Given the description of an element on the screen output the (x, y) to click on. 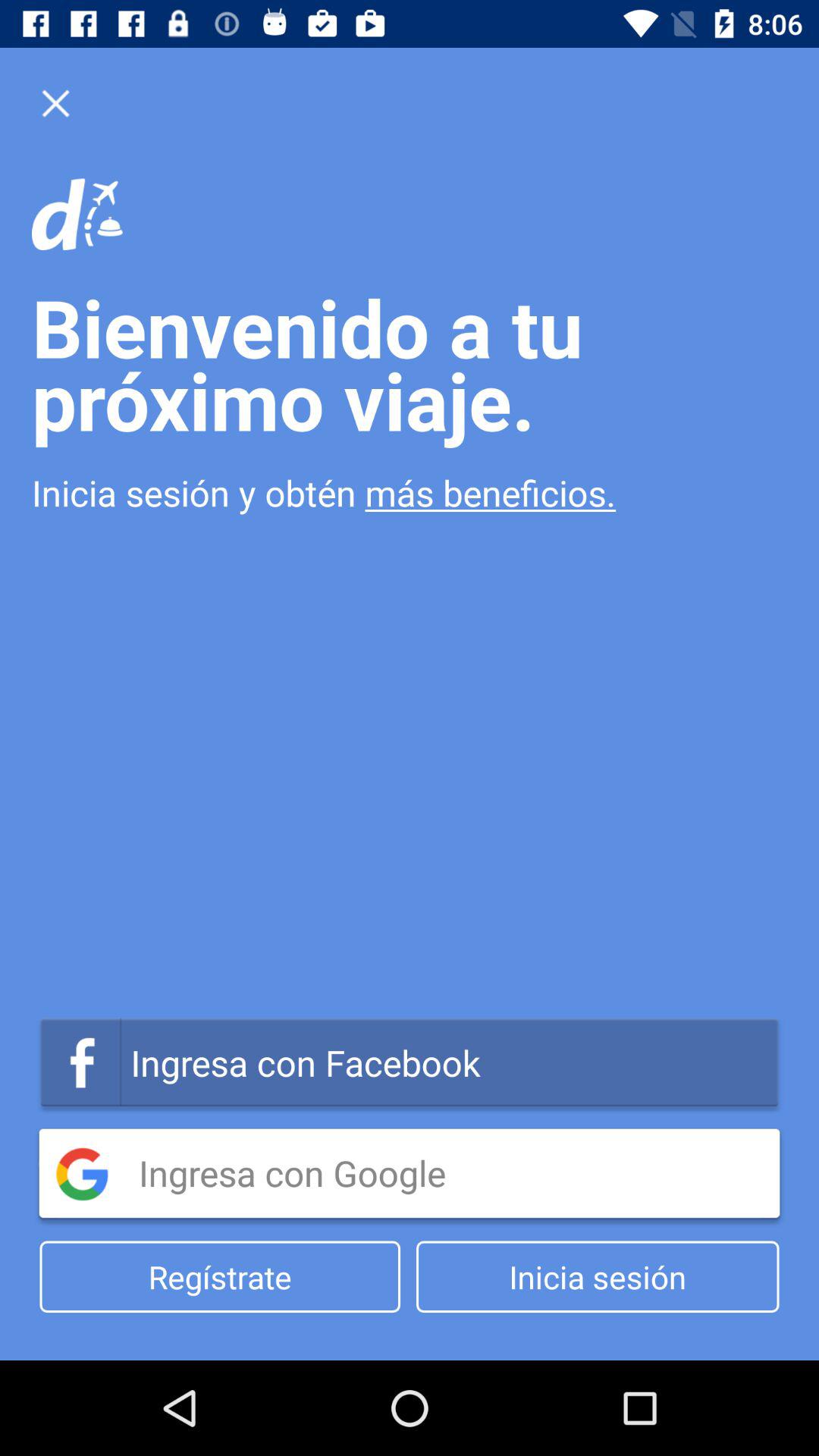
choose the icon below the ingresa con google item (219, 1276)
